Given the description of an element on the screen output the (x, y) to click on. 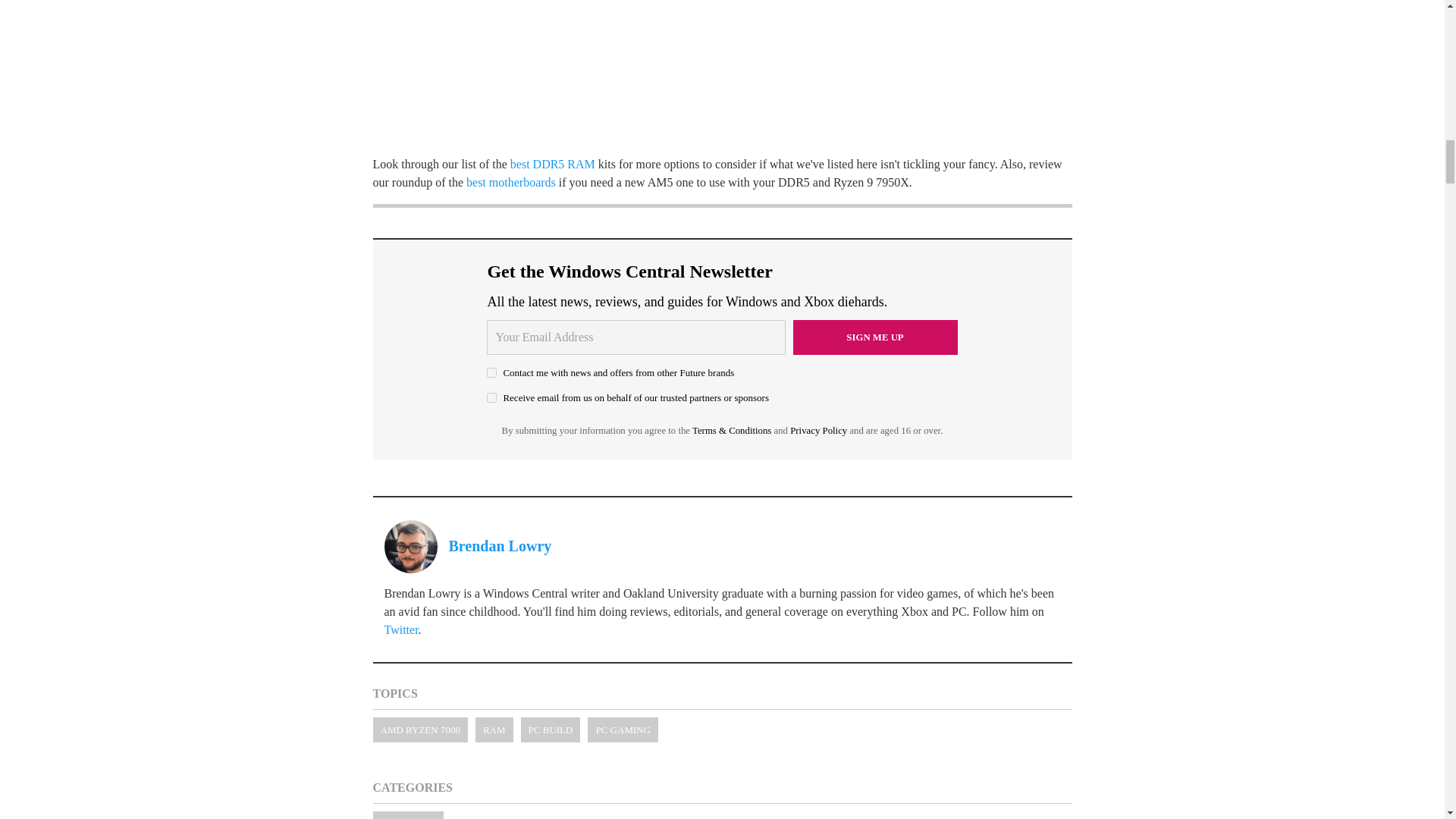
Sign me up (875, 337)
on (491, 397)
on (491, 372)
